Given the description of an element on the screen output the (x, y) to click on. 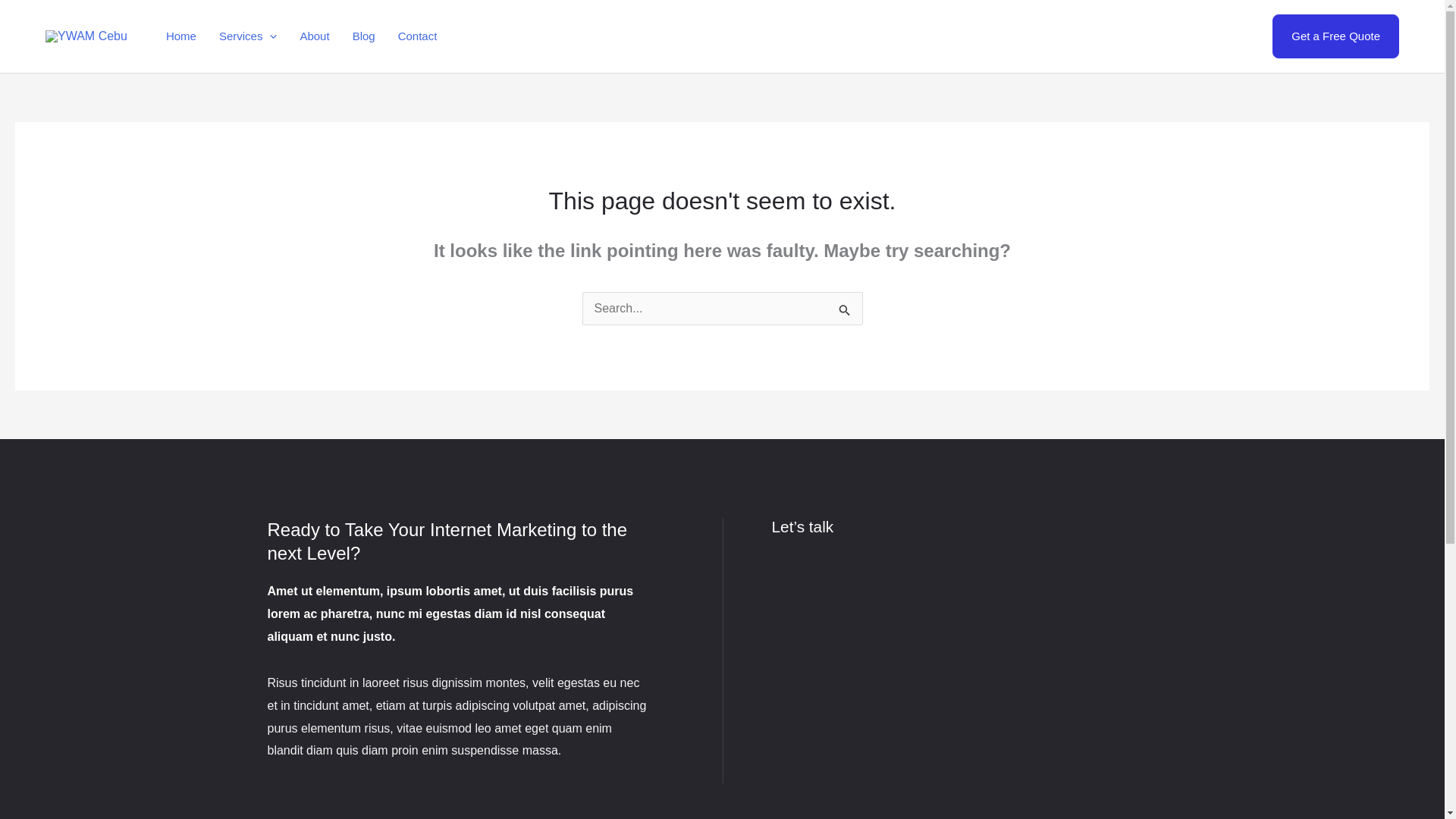
Services (248, 36)
Get a Free Quote (1335, 36)
